Given the description of an element on the screen output the (x, y) to click on. 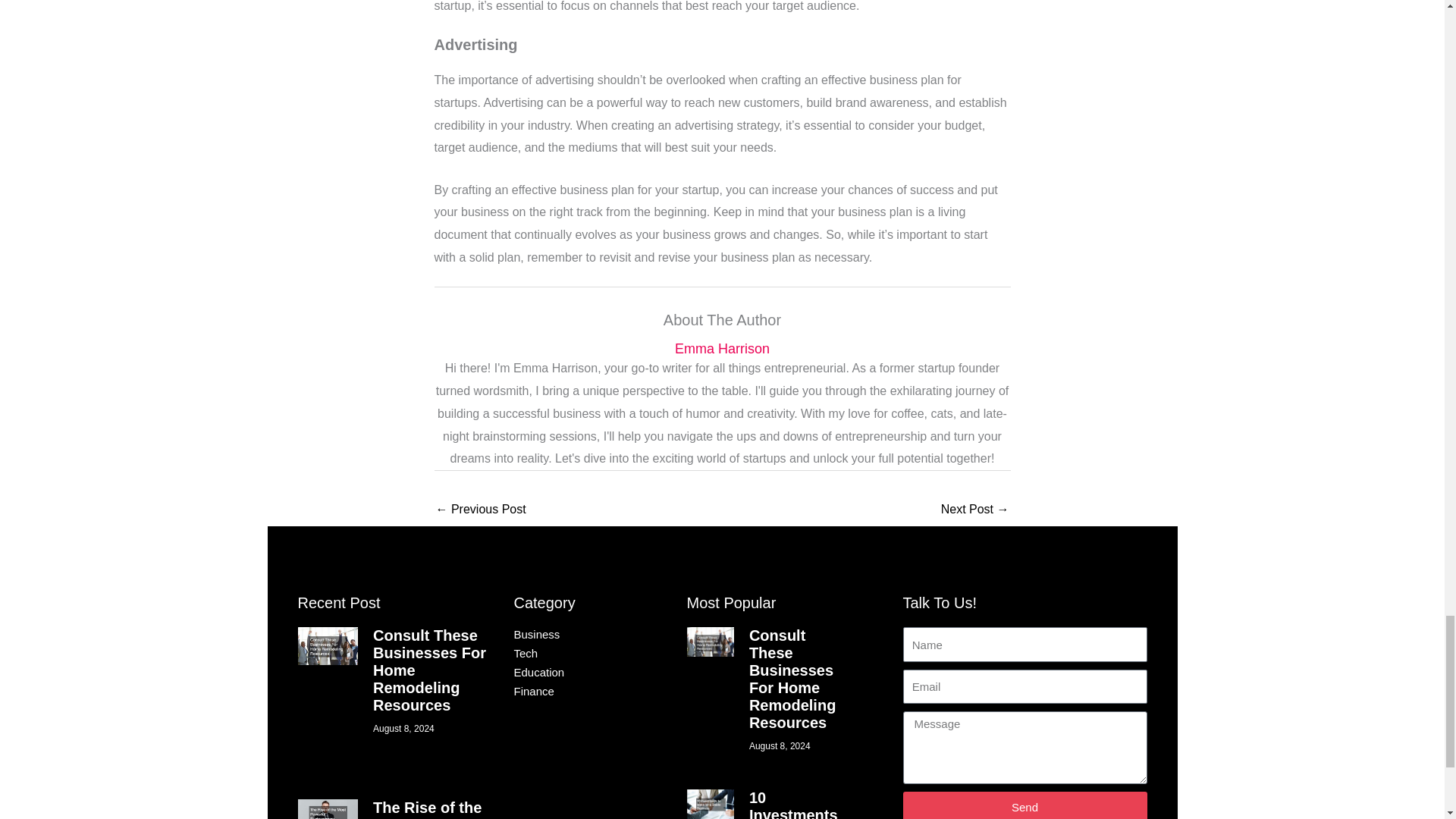
Tech (575, 653)
5 Tips to Start an Industrial Business (974, 510)
Finance (575, 691)
Education (575, 672)
How To Nurture a Thriving Horticulture Business (480, 510)
10 Investments to Make for a Stable Business (796, 804)
Business (575, 634)
Consult These Businesses For Home Remodeling Resources (429, 670)
Emma Harrison (721, 349)
